Given the description of an element on the screen output the (x, y) to click on. 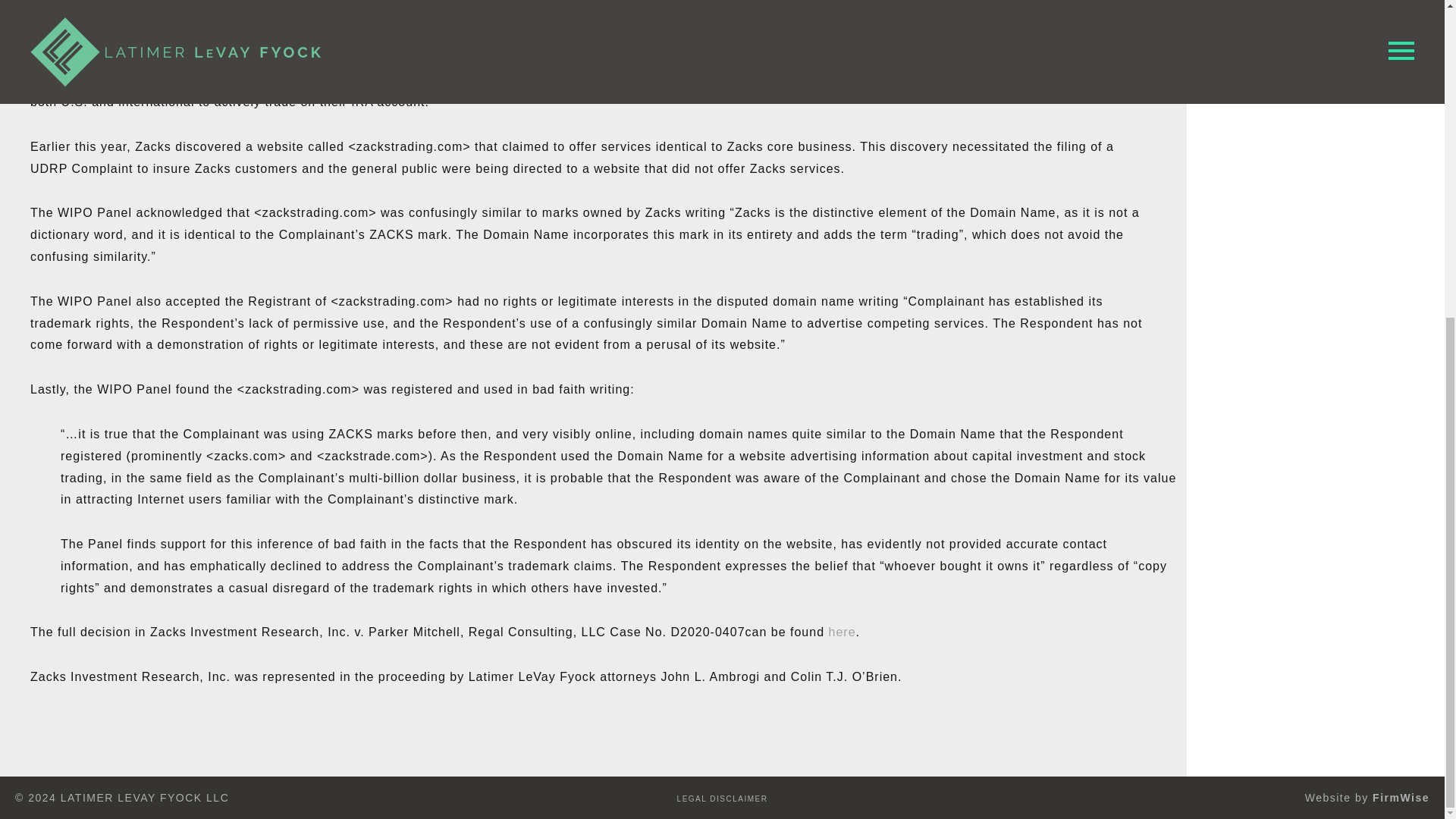
here (842, 631)
LEGAL DISCLAIMER (722, 798)
FirmWise (1401, 797)
Law Firm Website Hosting and Content Management System (1401, 797)
